Given the description of an element on the screen output the (x, y) to click on. 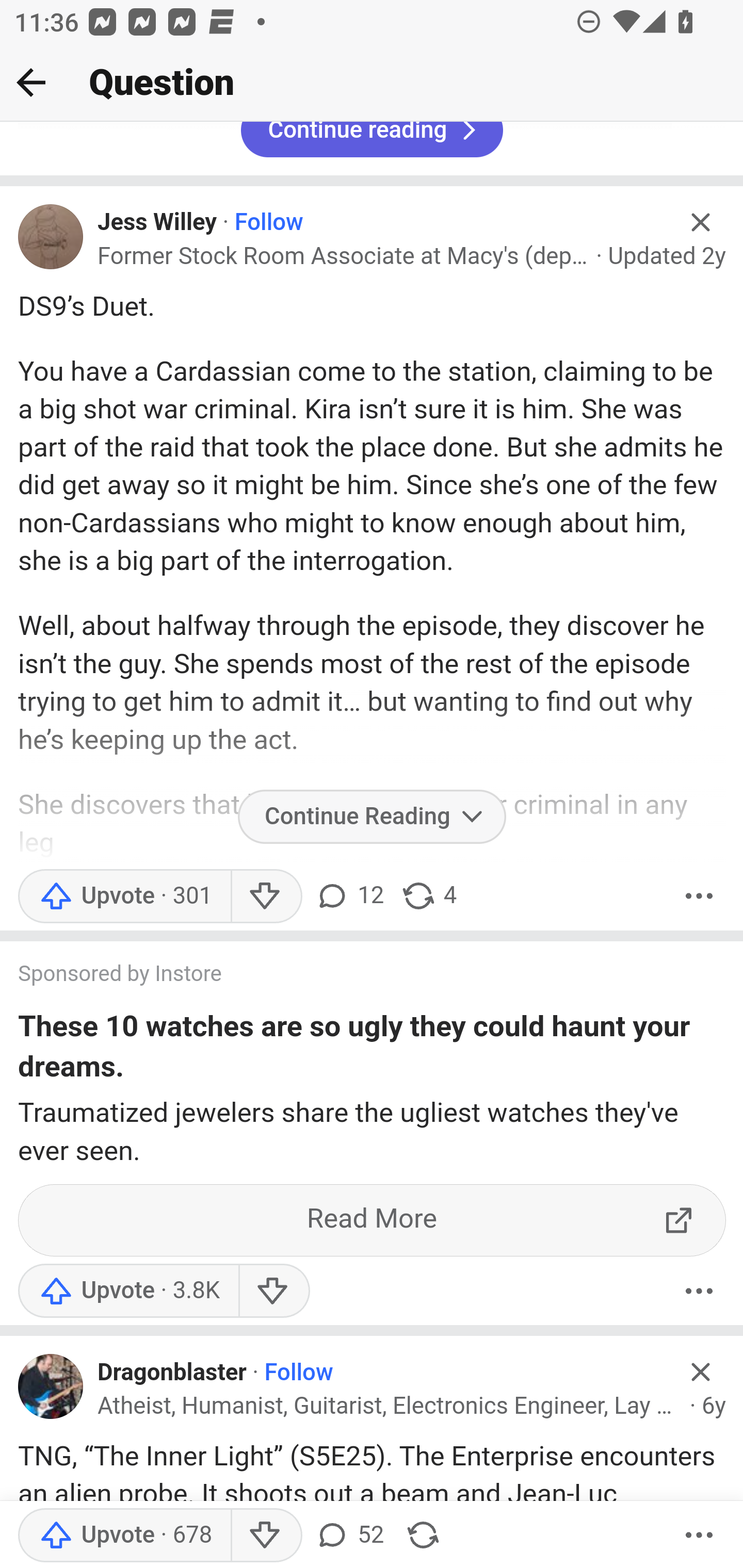
Back (30, 82)
Continue reading (371, 140)
Hide (700, 223)
Profile photo for Jess Willey (50, 236)
Jess Willey (157, 223)
Follow (267, 223)
Continue Reading (371, 817)
Upvote (124, 896)
Downvote (266, 896)
12 comments (349, 896)
4 shares (428, 896)
More (699, 896)
